Given the description of an element on the screen output the (x, y) to click on. 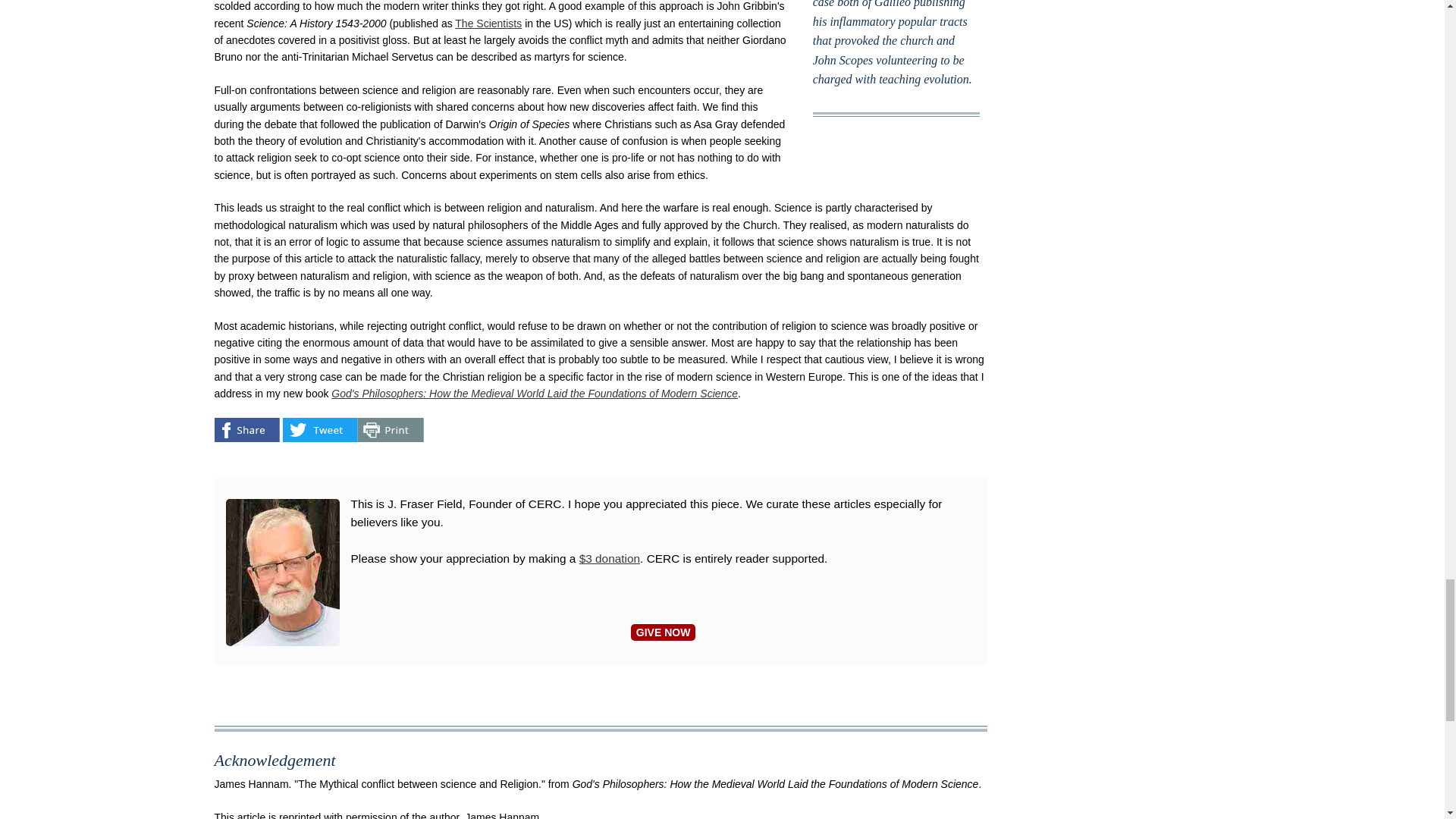
The Scientists (487, 23)
GIVE NOW (662, 632)
